Given the description of an element on the screen output the (x, y) to click on. 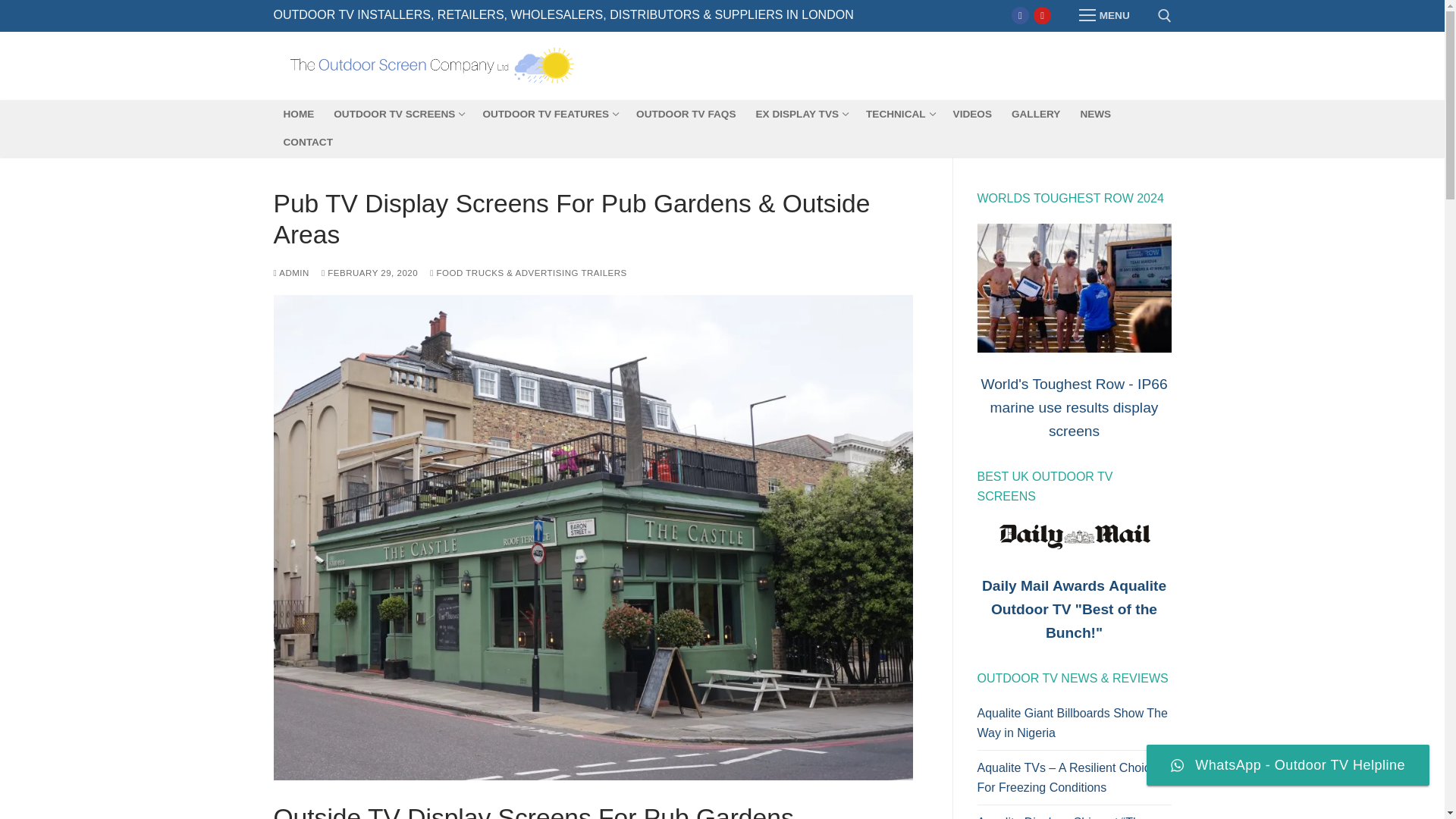
HOME (298, 113)
GALLERY (1035, 113)
Facebook (1019, 15)
Youtube (1041, 15)
Outdoor TV Screens (548, 113)
MENU (397, 113)
Outdoor TV Benefits (1103, 15)
VIDEOS (548, 113)
